Given the description of an element on the screen output the (x, y) to click on. 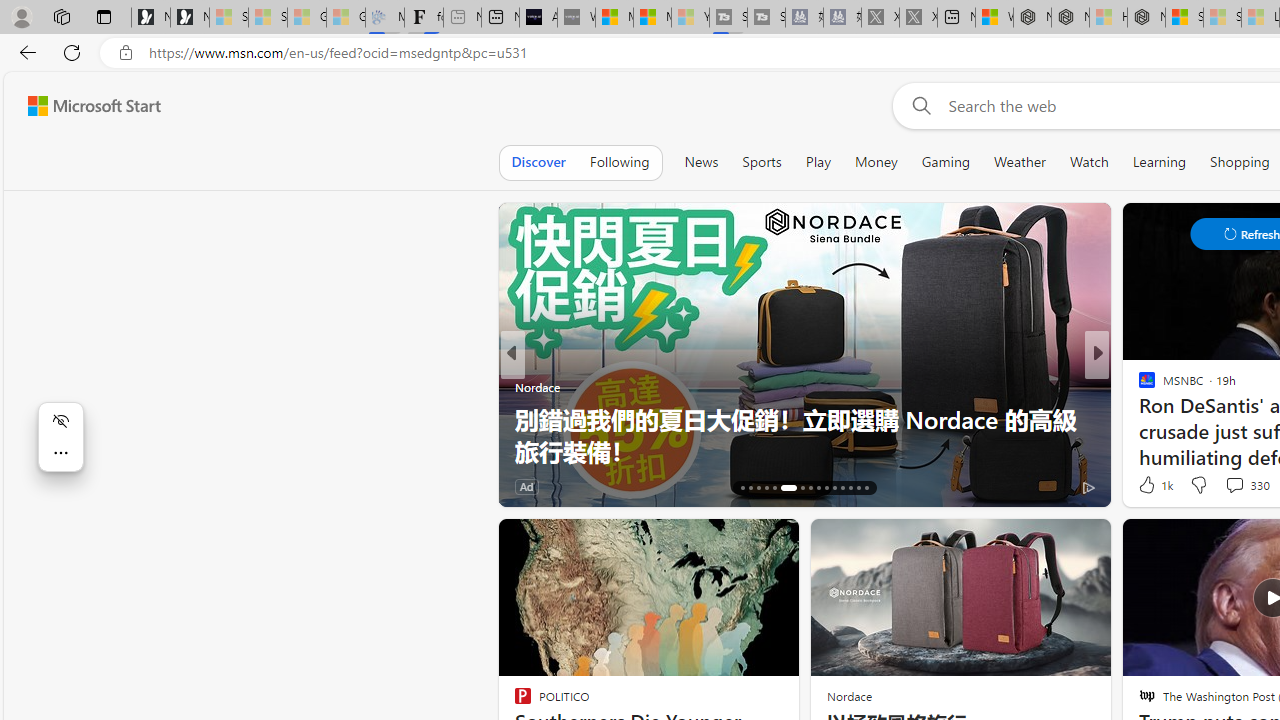
View comments 266 Comment (1247, 486)
Hide this story (738, 542)
AutomationID: tab-17 (750, 487)
View comments 39 Comment (11, 485)
497 Like (1151, 486)
AutomationID: tab-19 (765, 487)
